Given the description of an element on the screen output the (x, y) to click on. 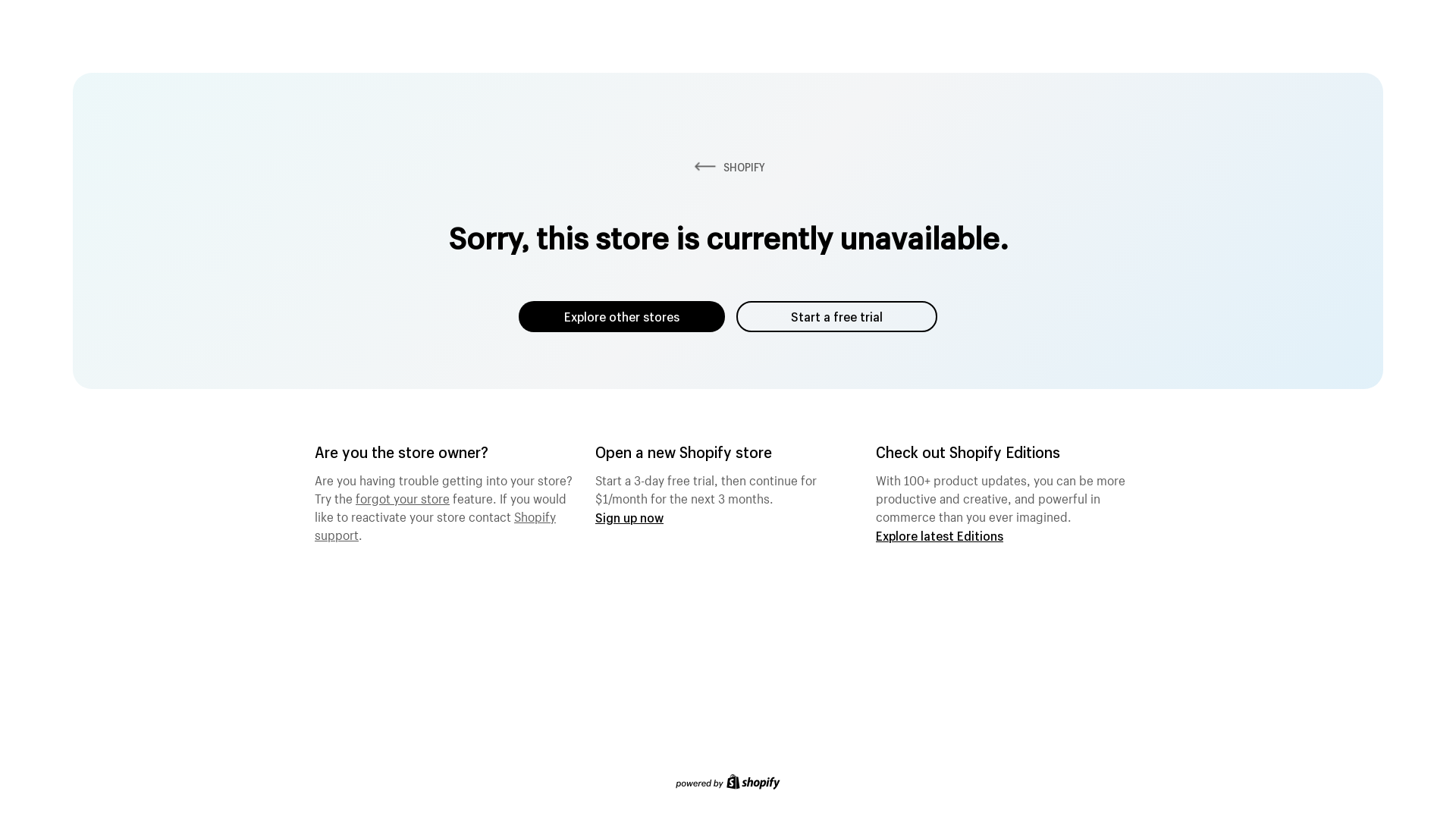
forgot your store Element type: text (402, 496)
Start a free trial Element type: text (836, 316)
Shopify support Element type: text (434, 523)
Sign up now Element type: text (629, 517)
Explore other stores Element type: text (621, 316)
Explore latest Editions Element type: text (939, 535)
SHOPIFY Element type: text (727, 167)
